Given the description of an element on the screen output the (x, y) to click on. 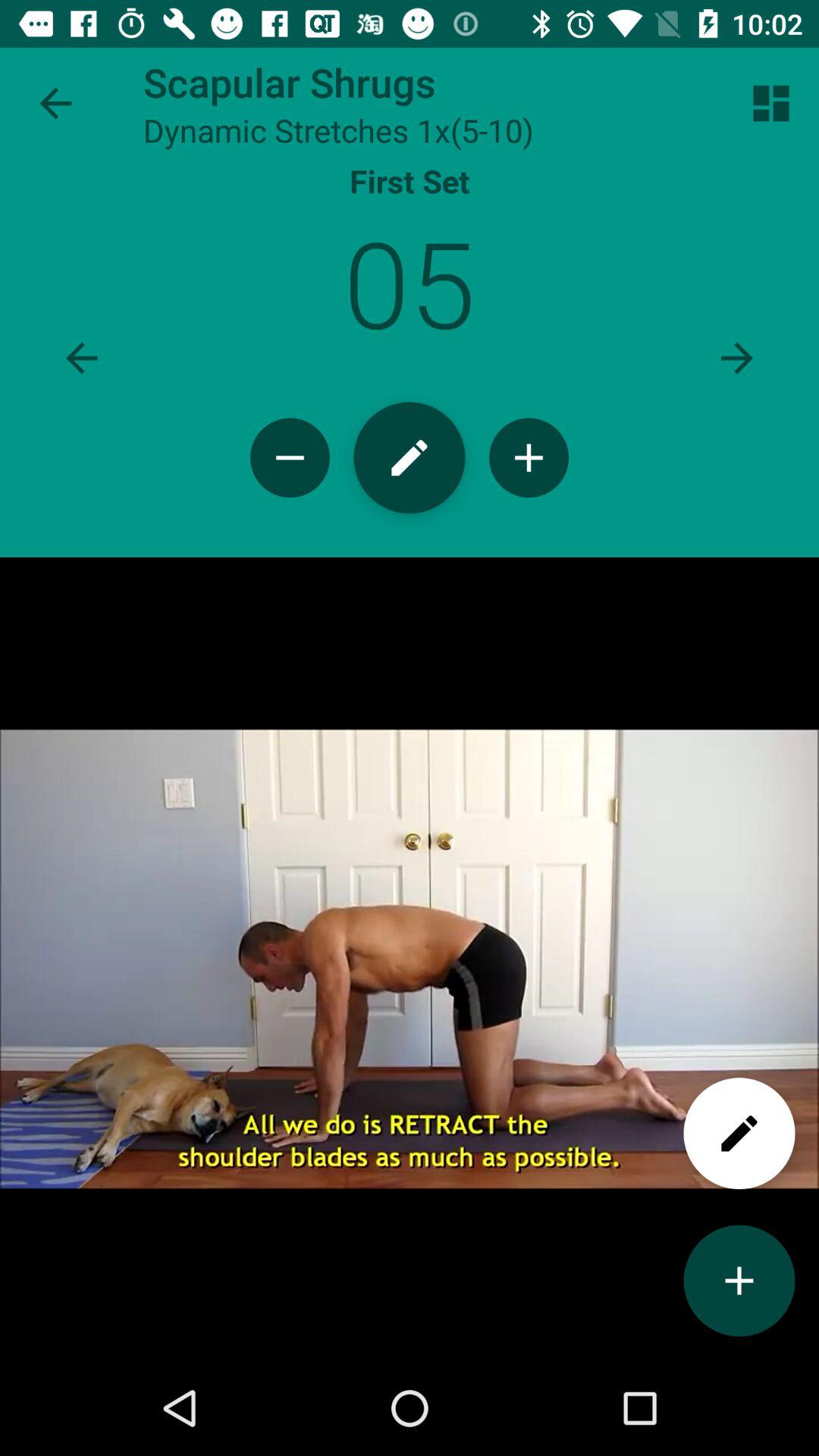
click to add option (739, 1280)
